Given the description of an element on the screen output the (x, y) to click on. 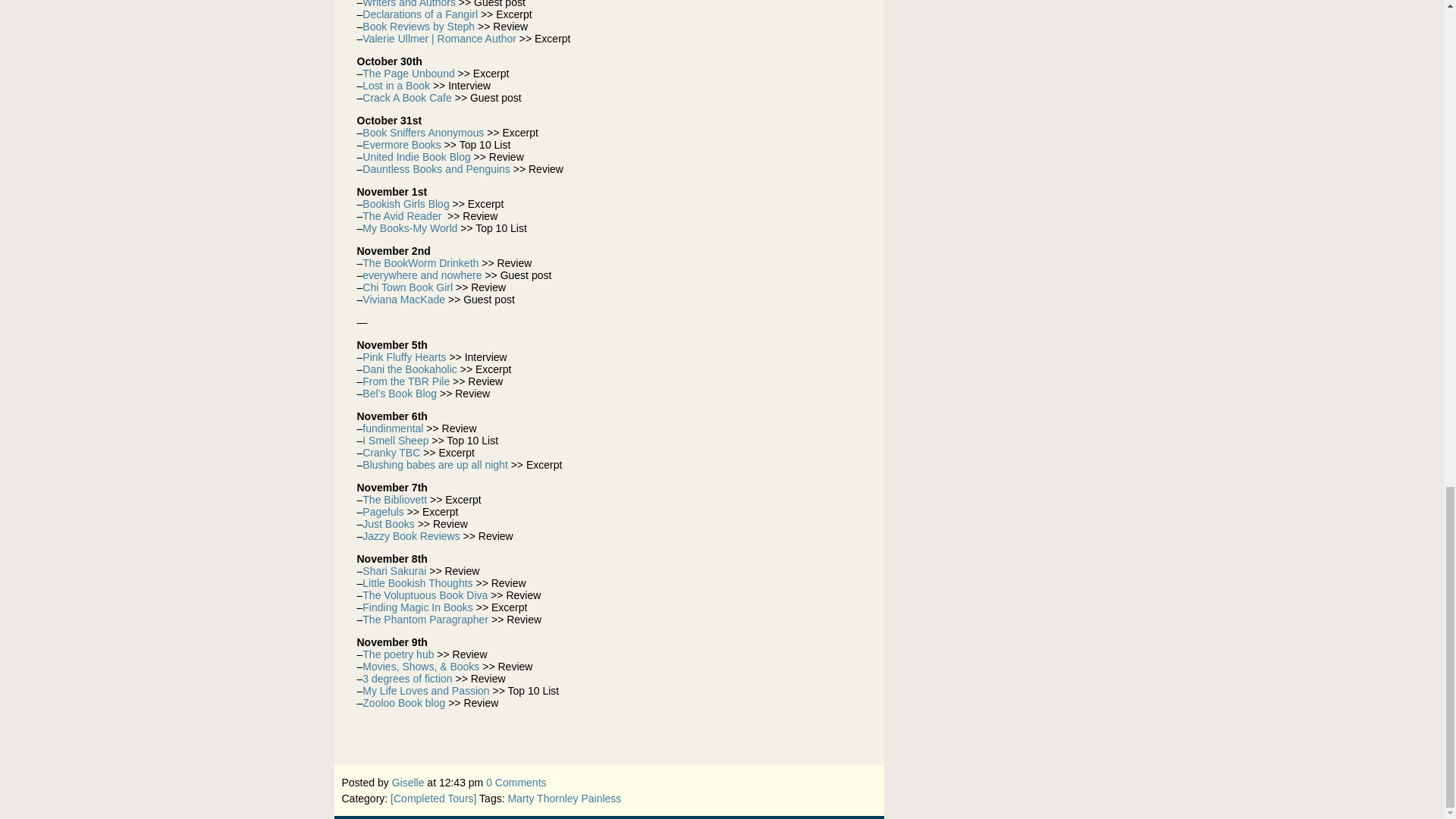
The Page Unbound (408, 73)
Evermore Books (401, 144)
Declarations of a Fangirl (419, 14)
Bookish Girls Blog (405, 203)
Book Reviews by Steph (418, 26)
Posts by Giselle (408, 782)
United Indie Book Blog (416, 156)
Lost in a Book (395, 85)
Writers and Authors (408, 4)
Book Sniffers Anonymous (422, 132)
